Given the description of an element on the screen output the (x, y) to click on. 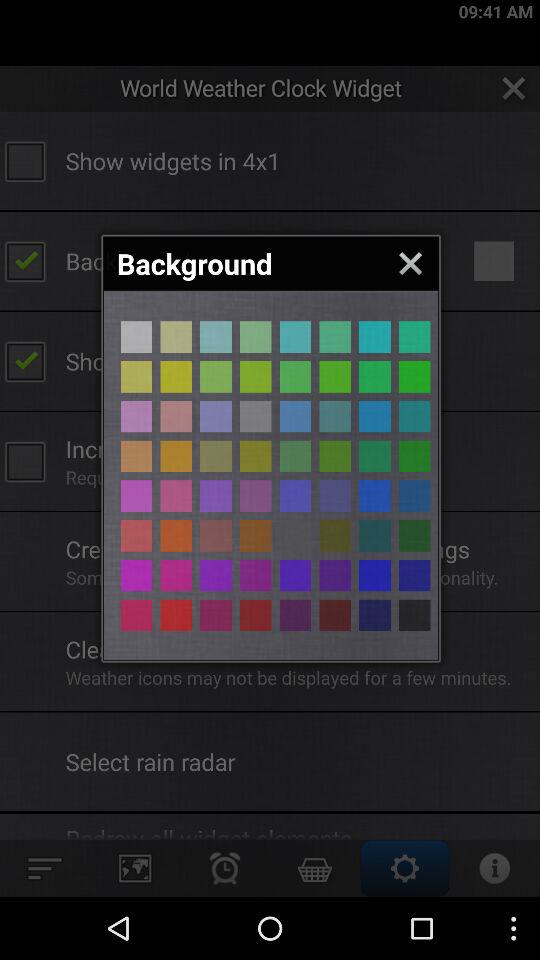
color selection (136, 575)
